Given the description of an element on the screen output the (x, y) to click on. 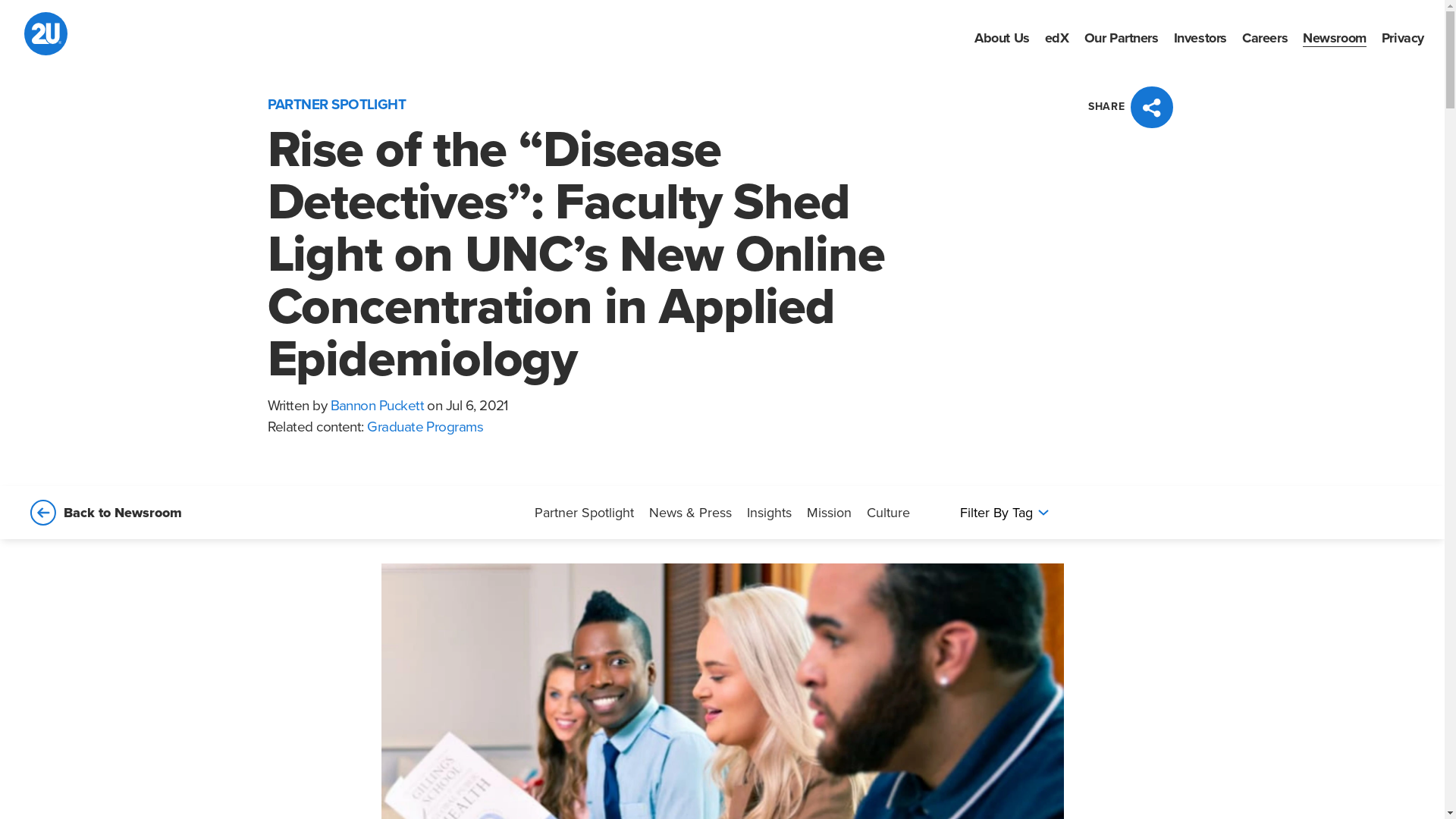
News & Press Element type: text (690, 512)
Our Partners Element type: text (1121, 37)
Privacy Element type: text (1402, 37)
Bannon Puckett Element type: text (376, 405)
Culture Element type: text (888, 512)
About Us Element type: text (1001, 37)
Back to Newsroom Element type: text (105, 512)
Mission Element type: text (828, 512)
Partner Spotlight Element type: text (583, 512)
SHARE Element type: text (1132, 106)
Careers Element type: text (1264, 37)
edX Element type: text (1056, 37)
Filter By Tag Element type: text (1002, 512)
Newsroom Element type: text (1334, 37)
Graduate Programs Element type: text (425, 427)
Investors Element type: text (1199, 37)
Insights Element type: text (768, 512)
